Given the description of an element on the screen output the (x, y) to click on. 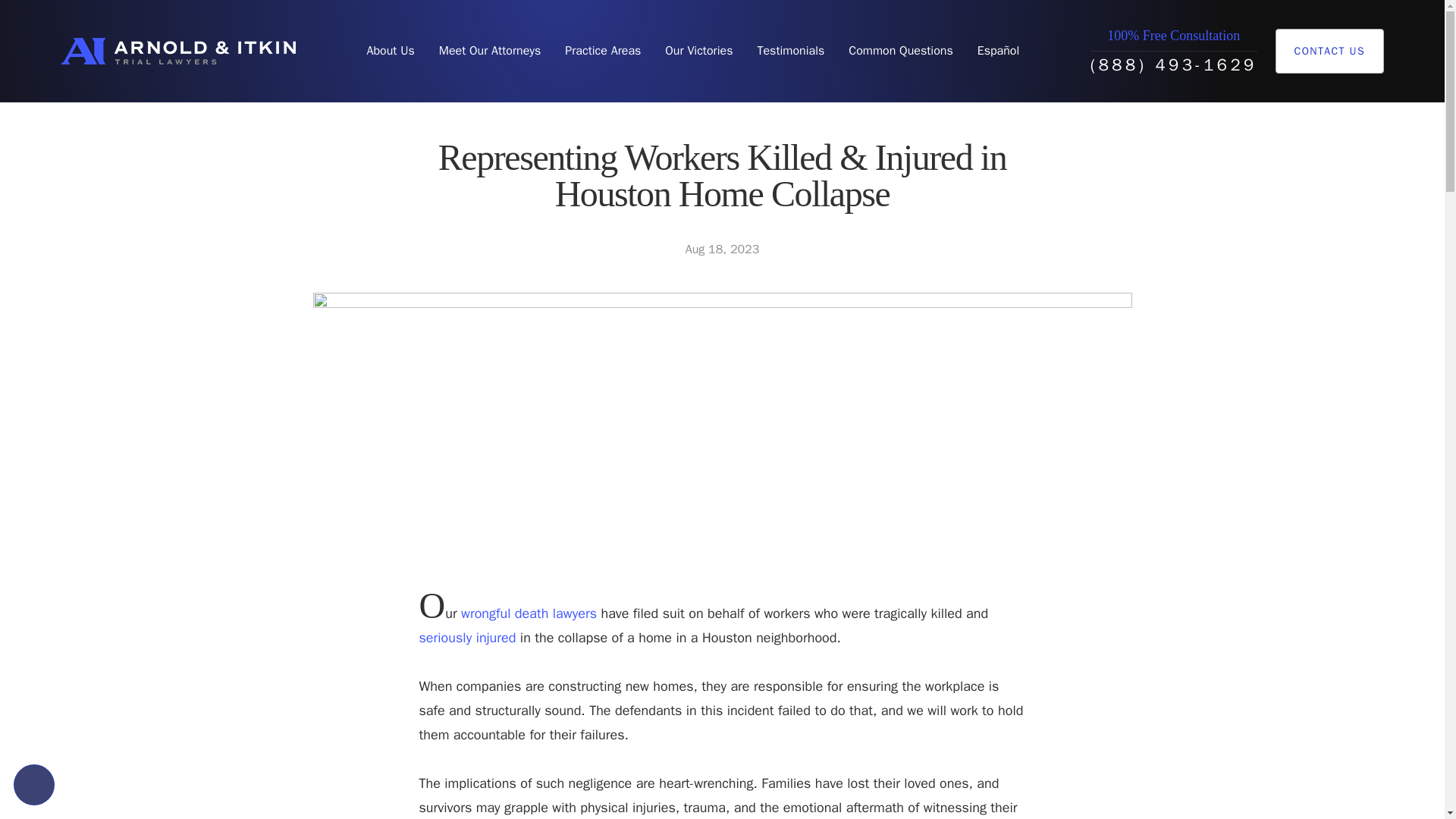
Home (178, 50)
About Us (389, 51)
Meet Our Attorneys (490, 51)
